Given the description of an element on the screen output the (x, y) to click on. 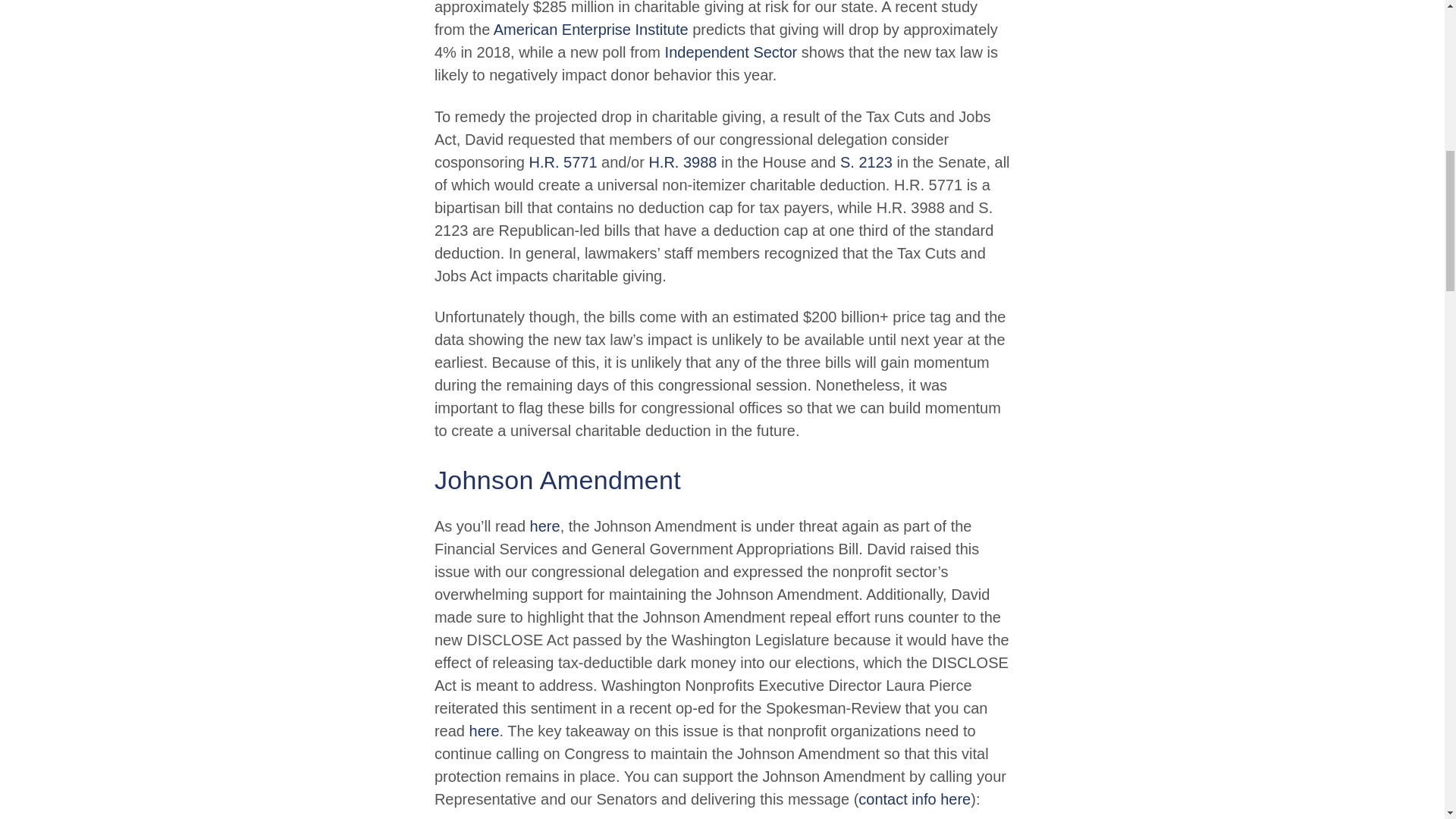
H.R. 5771 (562, 161)
contact info here (915, 799)
Scroll To Top (1420, 25)
here (544, 525)
S. 2123 (866, 161)
here (483, 730)
H.R. 3988 (681, 161)
Independent Sector (731, 52)
American Enterprise Institute (590, 29)
